Given the description of an element on the screen output the (x, y) to click on. 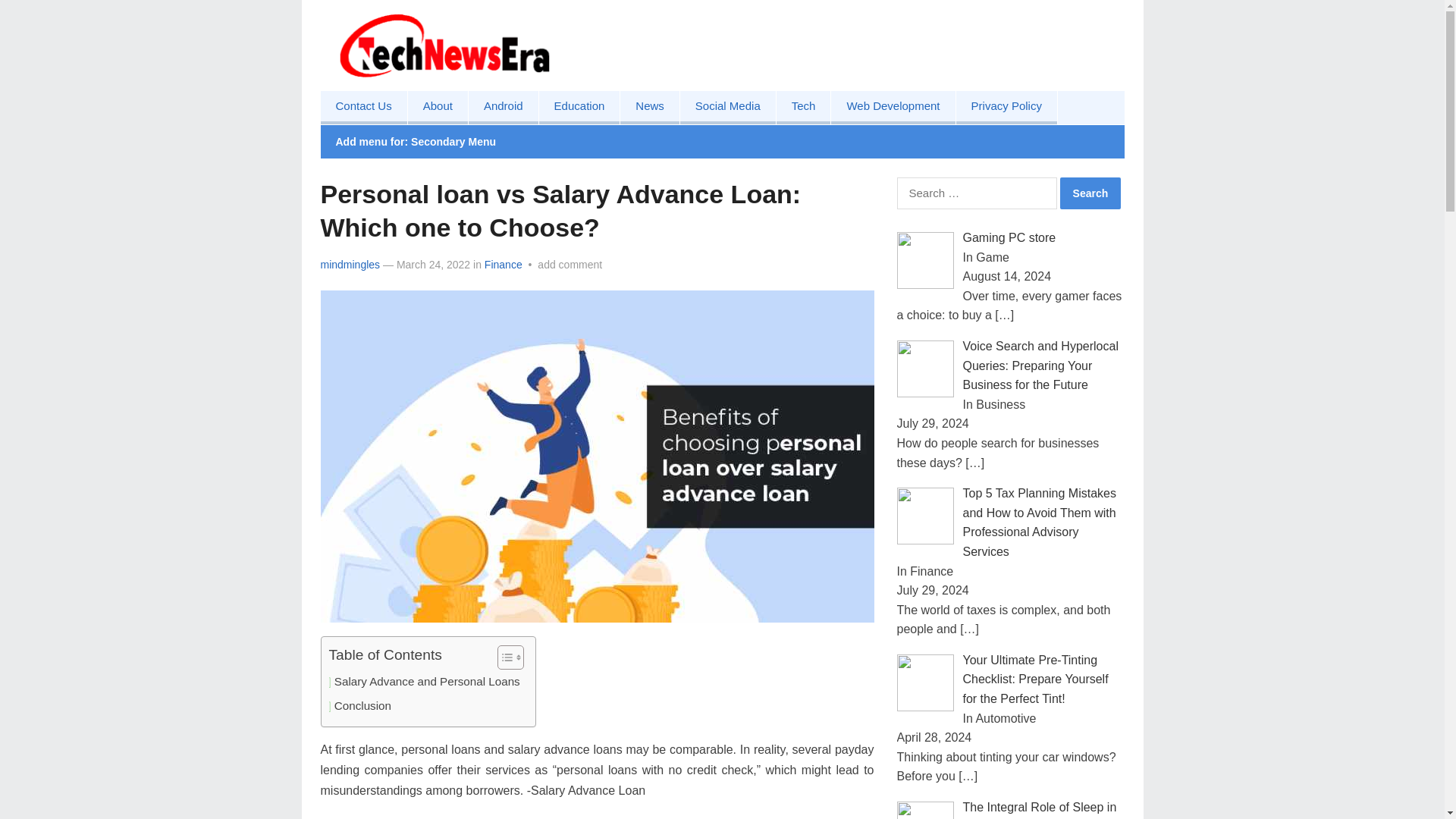
Add menu for: Secondary Menu (415, 141)
Web Development (893, 107)
Finance (503, 264)
Contact Us (363, 107)
Conclusion (362, 705)
About (437, 107)
Tech (803, 107)
Search (1090, 193)
Salary Advance and Personal Loans (426, 681)
Social Media (727, 107)
